Given the description of an element on the screen output the (x, y) to click on. 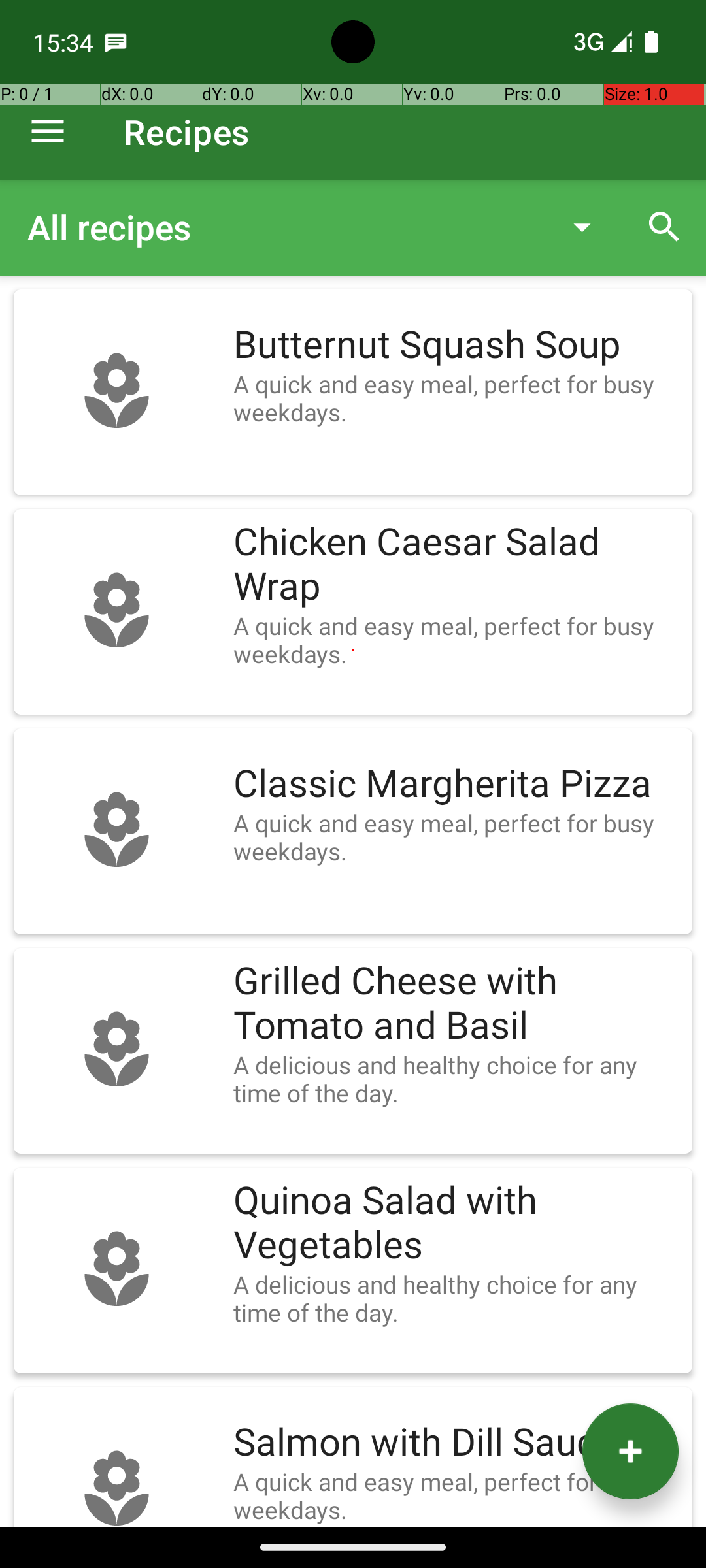
Chicken Caesar Salad Wrap Element type: android.widget.TextView (455, 564)
Classic Margherita Pizza Element type: android.widget.TextView (455, 783)
Grilled Cheese with Tomato and Basil Element type: android.widget.TextView (455, 1003)
Quinoa Salad with Vegetables Element type: android.widget.TextView (455, 1222)
Salmon with Dill Sauce Element type: android.widget.TextView (455, 1442)
